Given the description of an element on the screen output the (x, y) to click on. 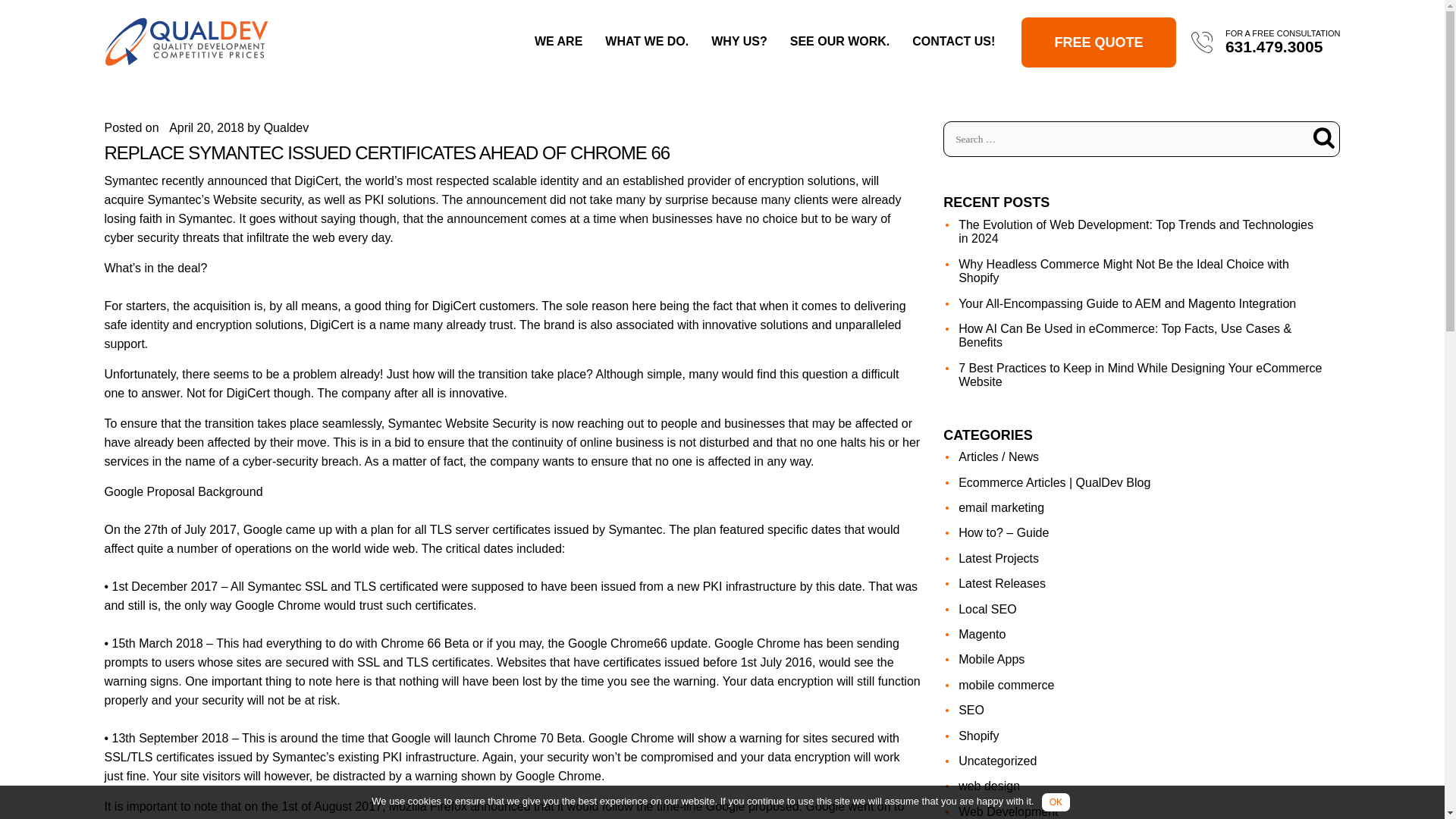
WE ARE (558, 41)
WHAT WE DO. (646, 41)
